Given the description of an element on the screen output the (x, y) to click on. 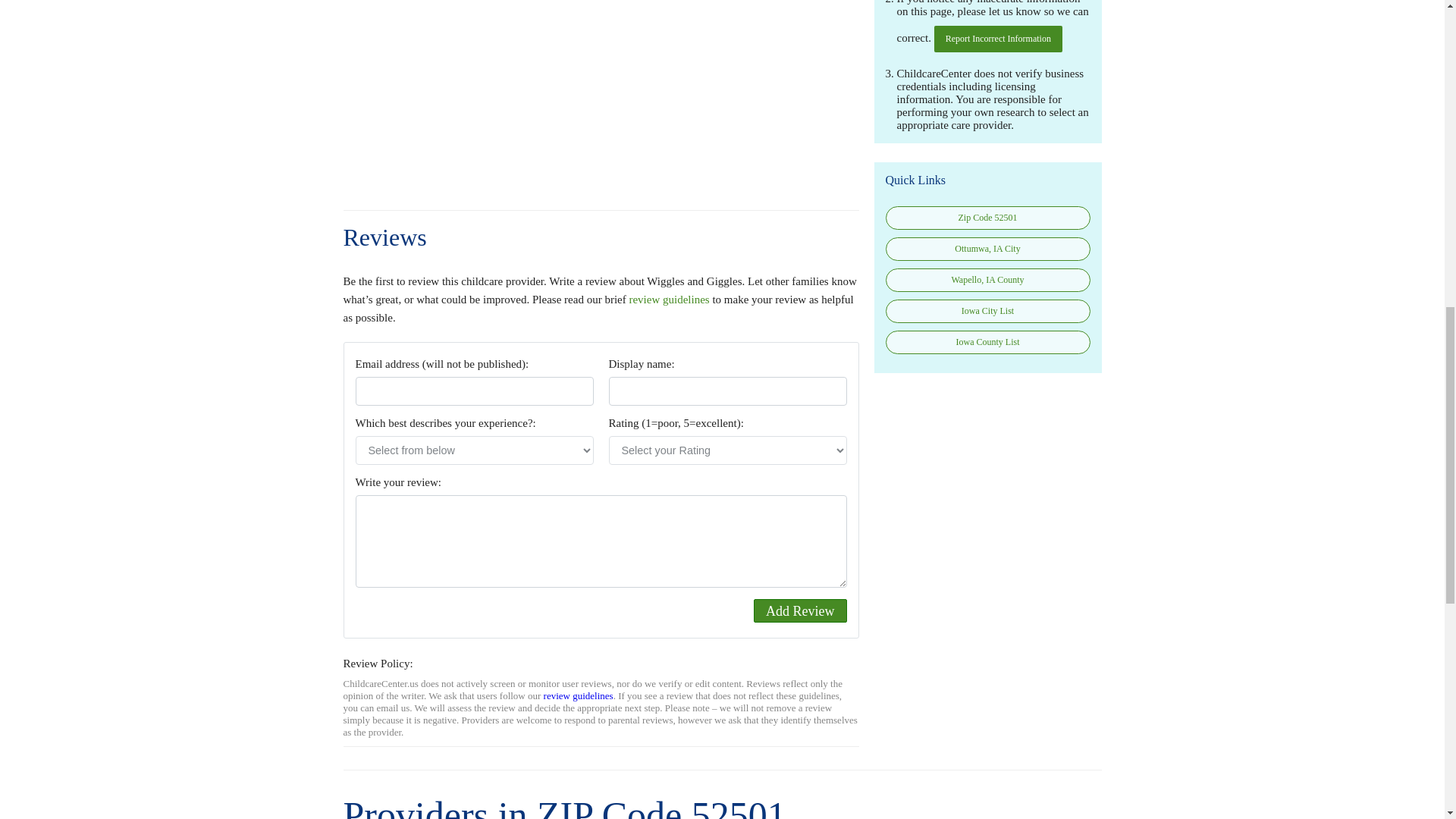
review guidelines (668, 299)
Iowa City List (987, 310)
Wapello, IA County (987, 279)
Add Review (799, 610)
Zip Code 52501 (987, 218)
Ottumwa, IA City (987, 249)
Report Incorrect Information (998, 38)
Add Review (799, 610)
Iowa County List (987, 341)
review guidelines (577, 695)
